Given the description of an element on the screen output the (x, y) to click on. 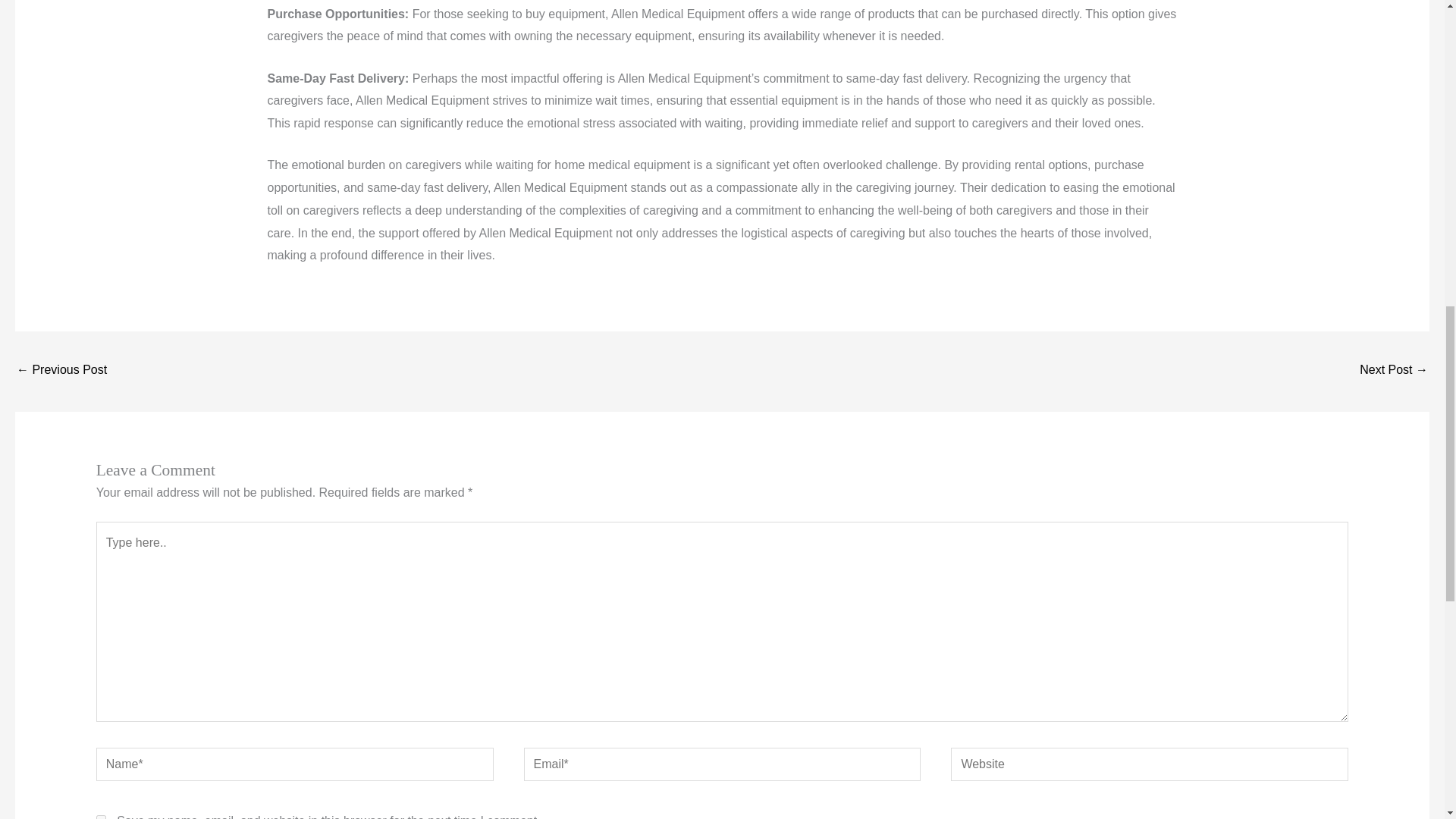
yes (101, 816)
